Given the description of an element on the screen output the (x, y) to click on. 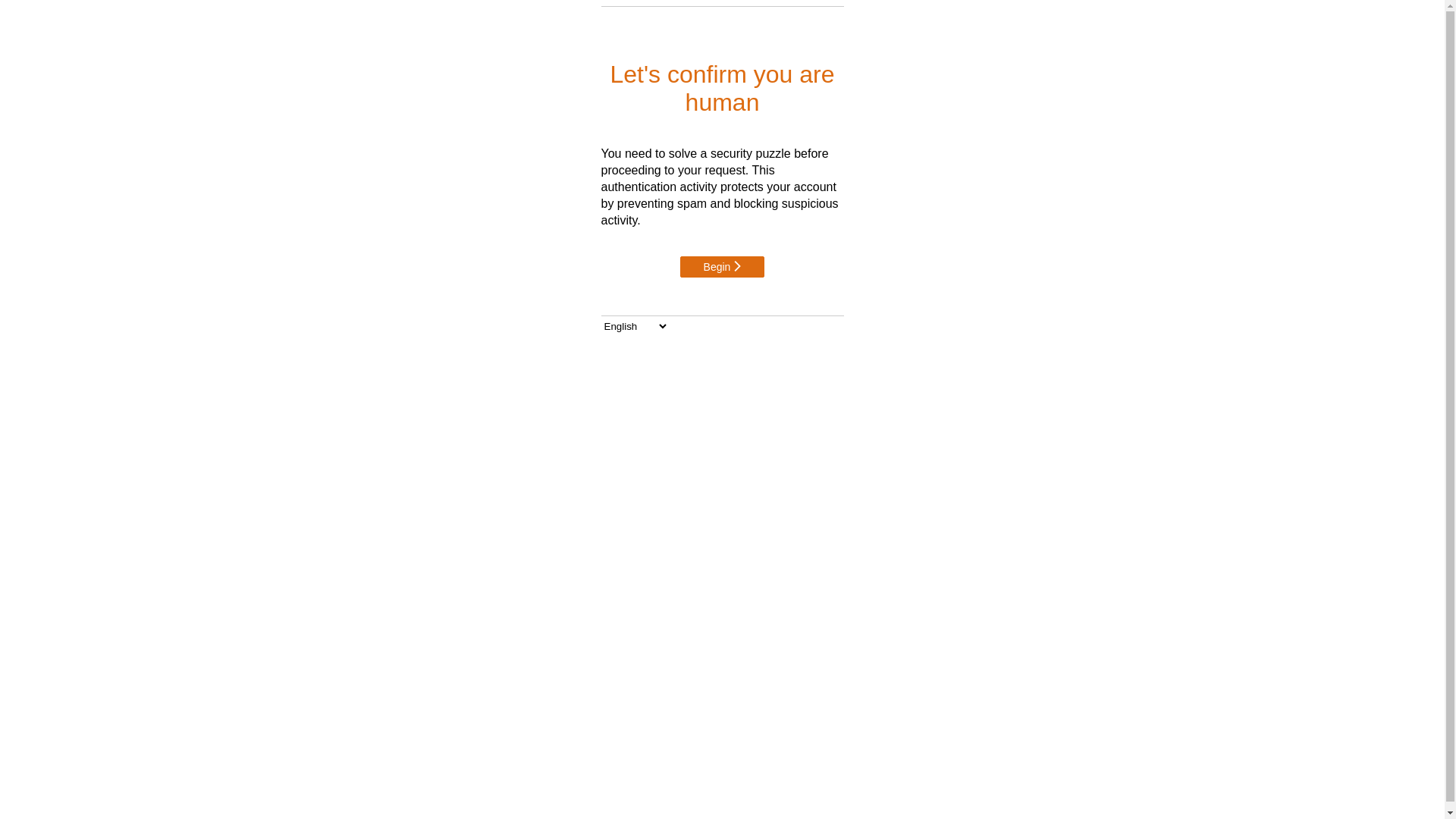
Begin Element type: text (722, 266)
